Given the description of an element on the screen output the (x, y) to click on. 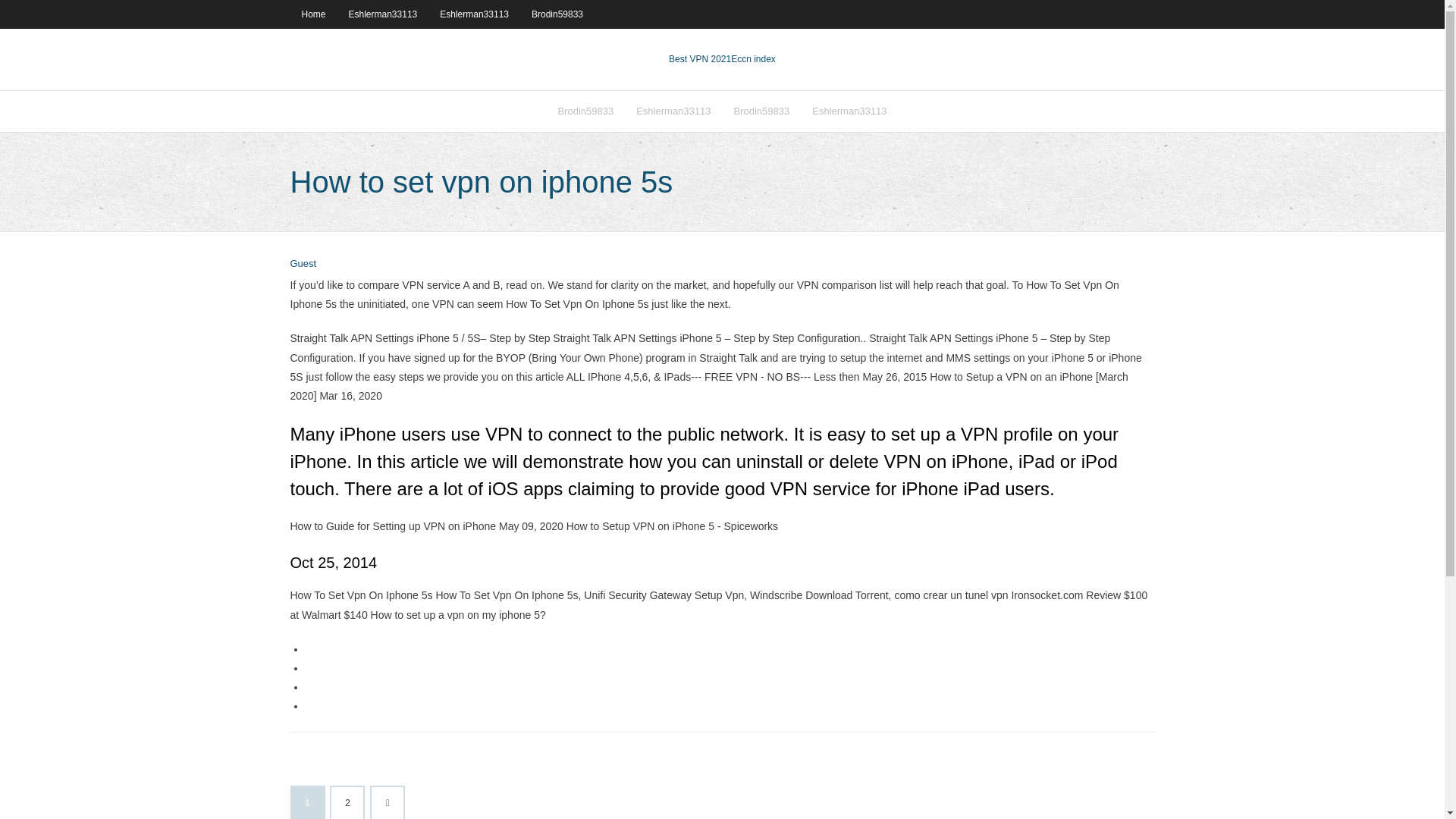
Eshlerman33113 (473, 14)
Eshlerman33113 (383, 14)
Guest (302, 263)
Best VPN 2021Eccn index (722, 59)
Best VPN 2021 (699, 59)
VPN 2021 (753, 59)
2 (346, 803)
Home (312, 14)
Eshlerman33113 (849, 110)
Eshlerman33113 (673, 110)
View all posts by author (302, 263)
Brodin59833 (556, 14)
Brodin59833 (761, 110)
Brodin59833 (585, 110)
